Given the description of an element on the screen output the (x, y) to click on. 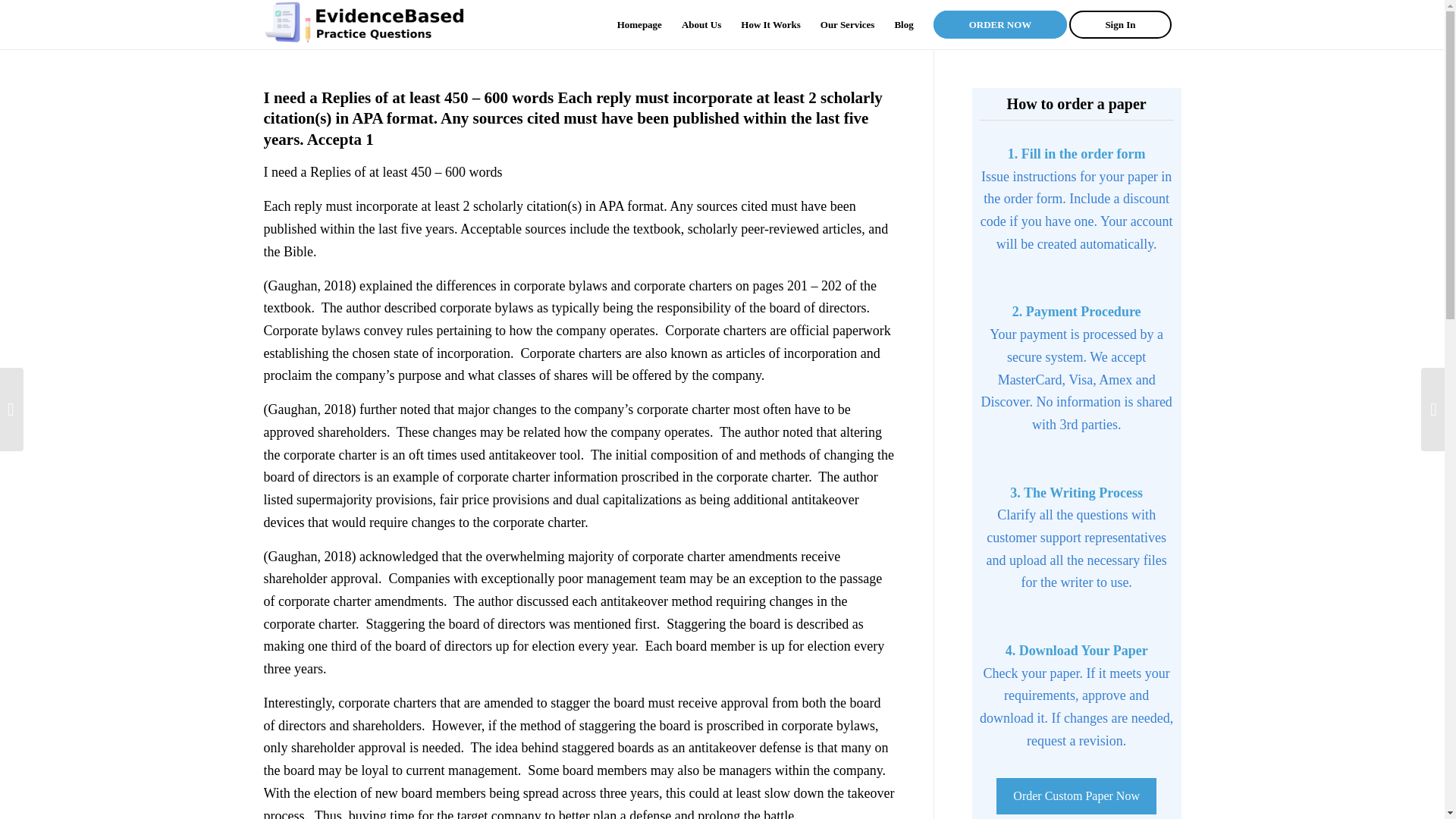
Our Services (847, 24)
How It Works (770, 24)
Order Custom Paper Now (1075, 796)
ORDER NOW (1000, 24)
Sign In (1124, 24)
Homepage (639, 24)
About Us (700, 24)
